Given the description of an element on the screen output the (x, y) to click on. 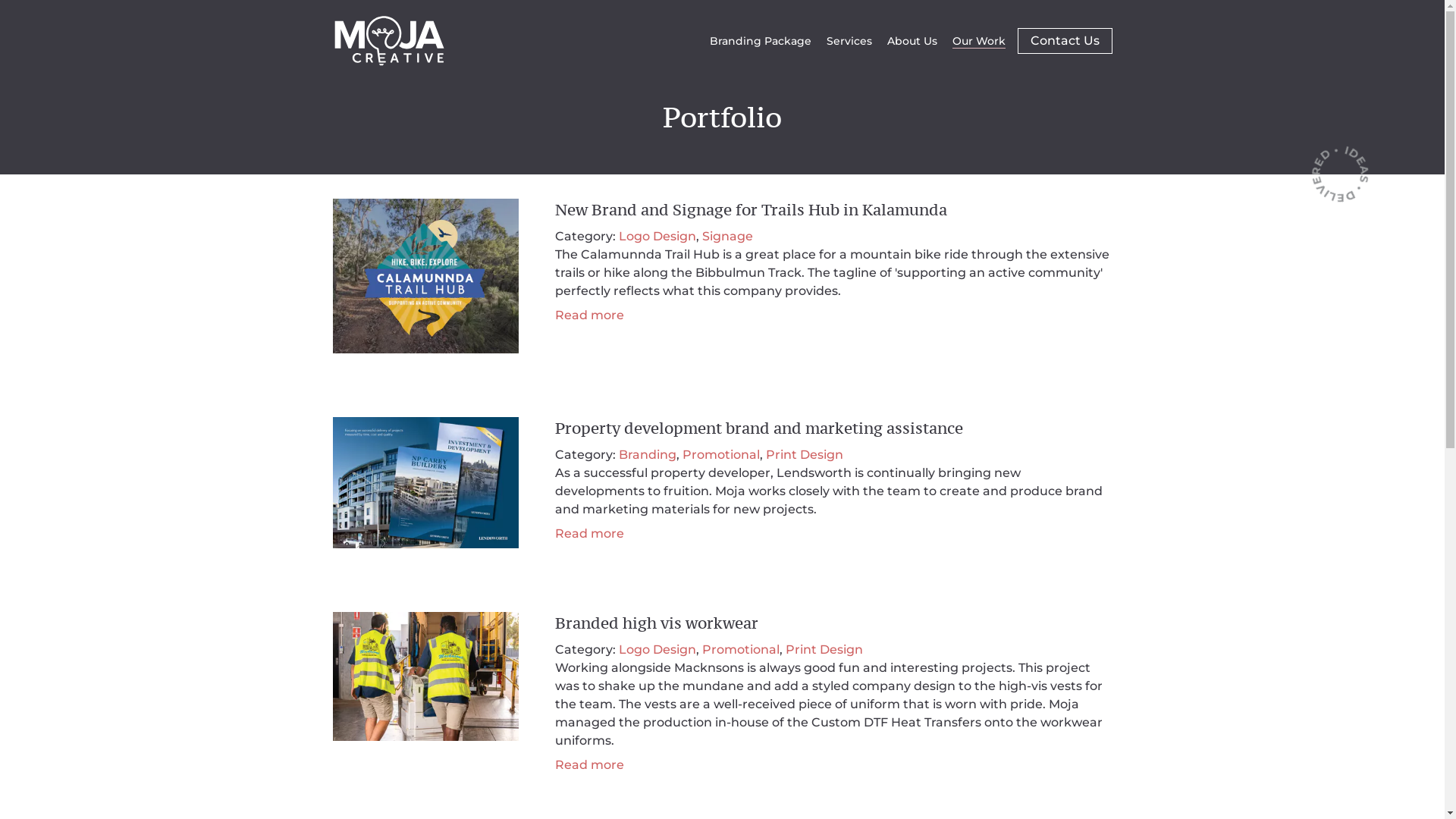
Promotional Element type: text (720, 454)
Branding Package Element type: text (760, 41)
Property development brand and marketing assistance Element type: text (759, 427)
Print Design Element type: text (823, 649)
Read more Element type: text (589, 314)
Moja Creative Element type: text (388, 40)
New Brand and Signage for Trails Hub in Kalamunda Element type: text (751, 209)
About Us Element type: text (912, 41)
Signage Element type: text (727, 236)
Read more Element type: text (589, 764)
Our Work Element type: text (978, 41)
Services Element type: text (849, 41)
Contact Us Element type: text (1064, 40)
Read more Element type: text (589, 533)
Branding Element type: text (647, 454)
Logo Design Element type: text (657, 236)
Branded high vis workwear Element type: text (656, 622)
Promotional Element type: text (740, 649)
Print Design Element type: text (804, 454)
Logo Design Element type: text (657, 649)
